Given the description of an element on the screen output the (x, y) to click on. 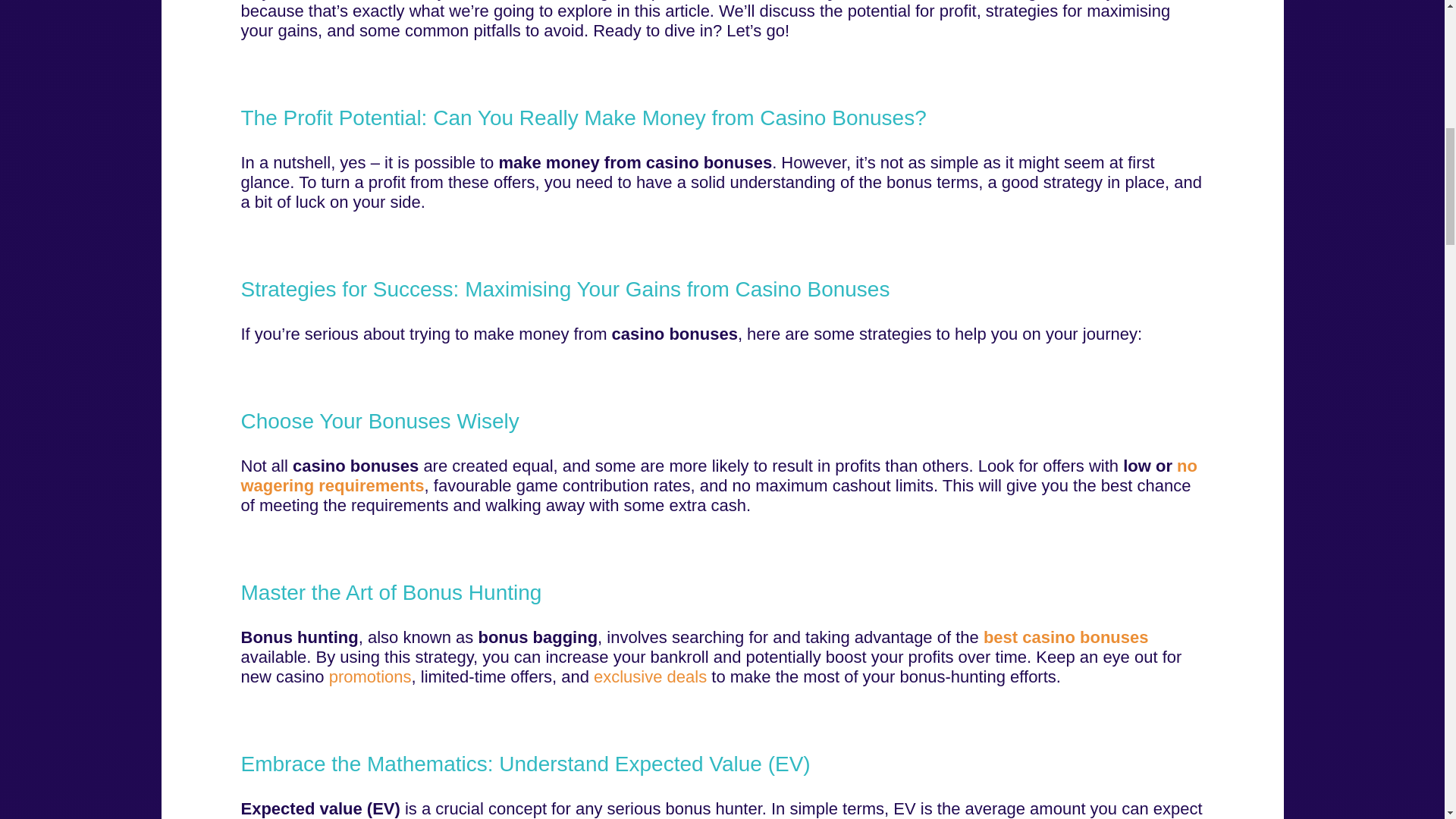
promotions (370, 676)
no wagering requirements (719, 475)
exclusive deals (650, 676)
best casino bonuses (1066, 637)
